Given the description of an element on the screen output the (x, y) to click on. 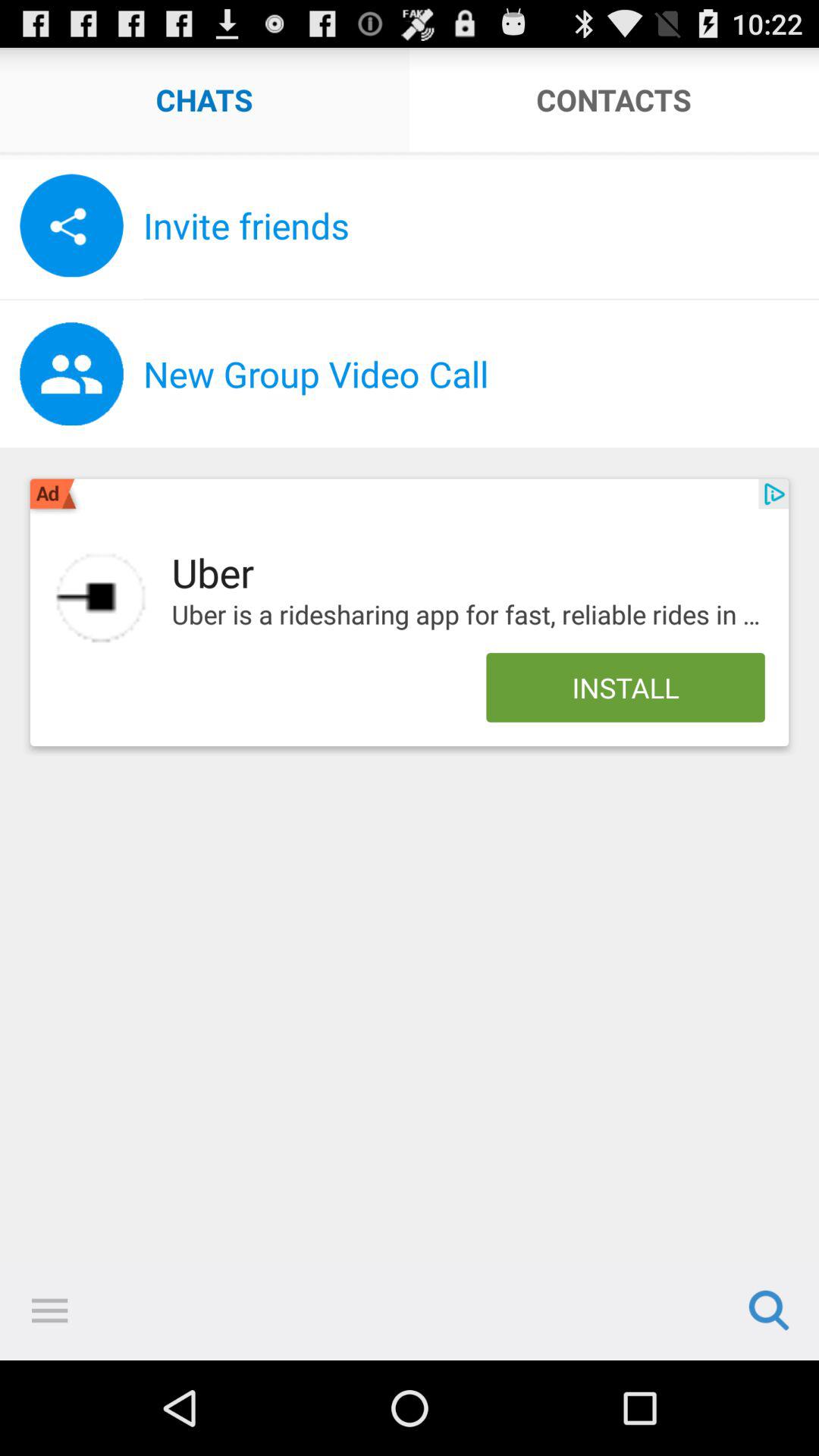
scroll until the new group video (481, 373)
